Given the description of an element on the screen output the (x, y) to click on. 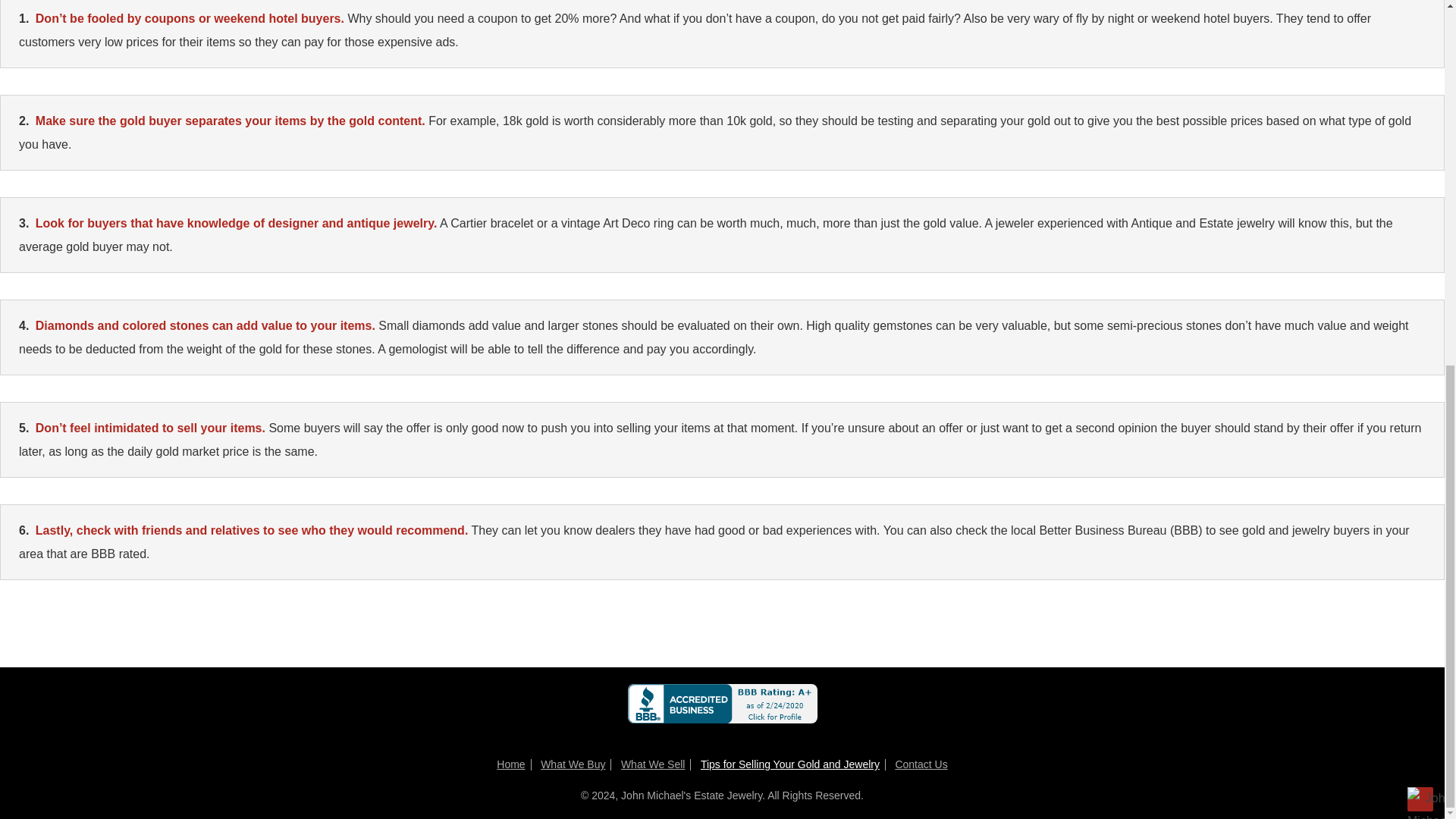
Back to top (1419, 143)
What We Sell (653, 764)
Contact Us (921, 764)
Tips for Selling Your Gold and Jewelry (789, 764)
What We Buy (572, 764)
Home (510, 764)
